Given the description of an element on the screen output the (x, y) to click on. 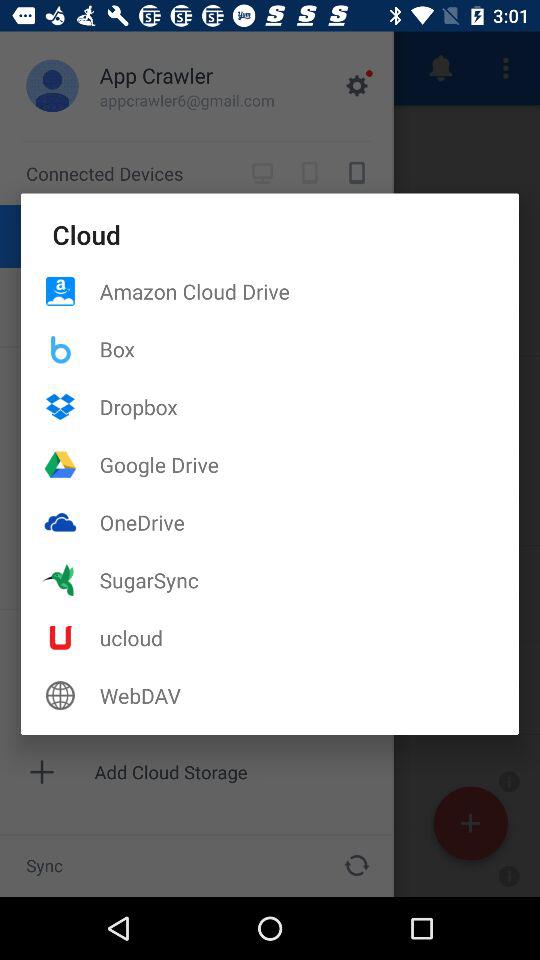
click item below dropbox item (309, 464)
